Given the description of an element on the screen output the (x, y) to click on. 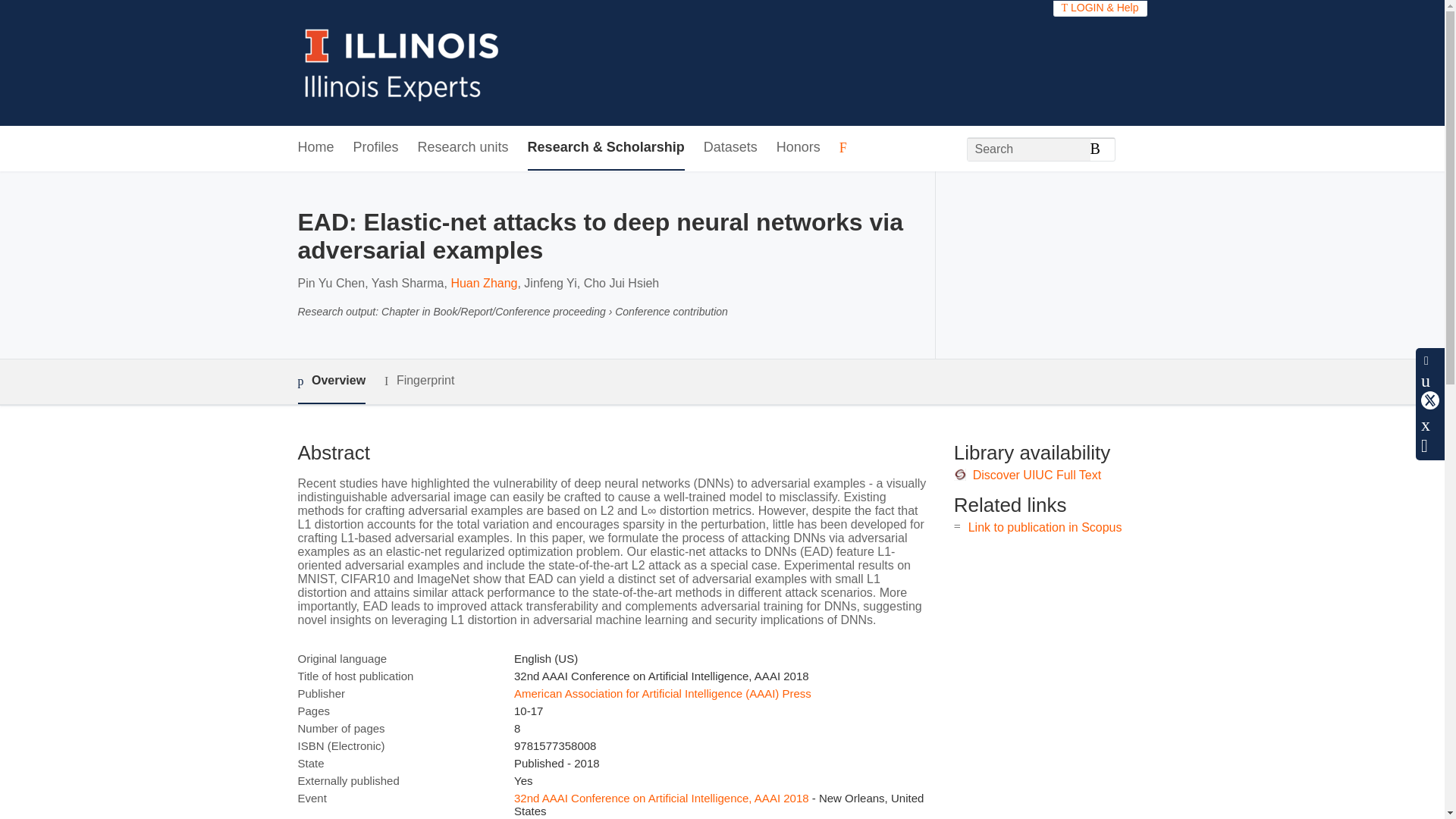
Profiles (375, 148)
32nd AAAI Conference on Artificial Intelligence, AAAI 2018 (661, 797)
Huan Zhang (482, 282)
Discover UIUC Full Text (1037, 474)
University of Illinois Urbana-Champaign Home (402, 62)
Overview (331, 381)
Fingerprint (419, 380)
Research units (462, 148)
Link to publication in Scopus (1045, 526)
Honors (798, 148)
Datasets (730, 148)
